Given the description of an element on the screen output the (x, y) to click on. 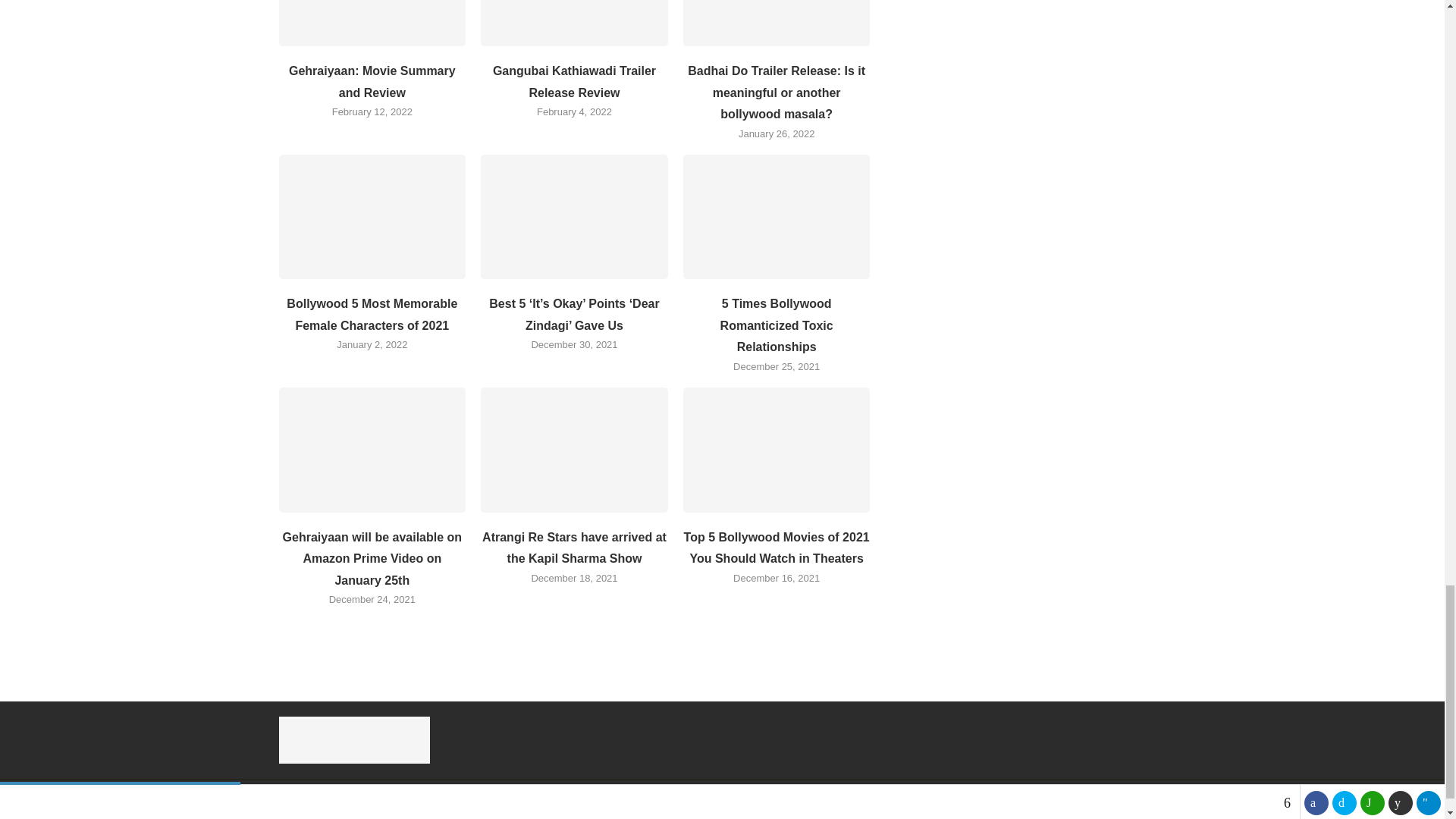
Bollywood 5 Most Memorable Female Characters of 2021 (372, 216)
Top 5 Bollywood Movies of 2021 You Should Watch in Theaters (776, 449)
Atrangi Re Stars have arrived at the Kapil Sharma Show (574, 449)
Gehraiyaan: Movie Summary and Review (372, 22)
5 Times Bollywood Romanticized Toxic Relationships (776, 216)
Gangubai Kathiawadi Trailer Release Review (574, 22)
